Given the description of an element on the screen output the (x, y) to click on. 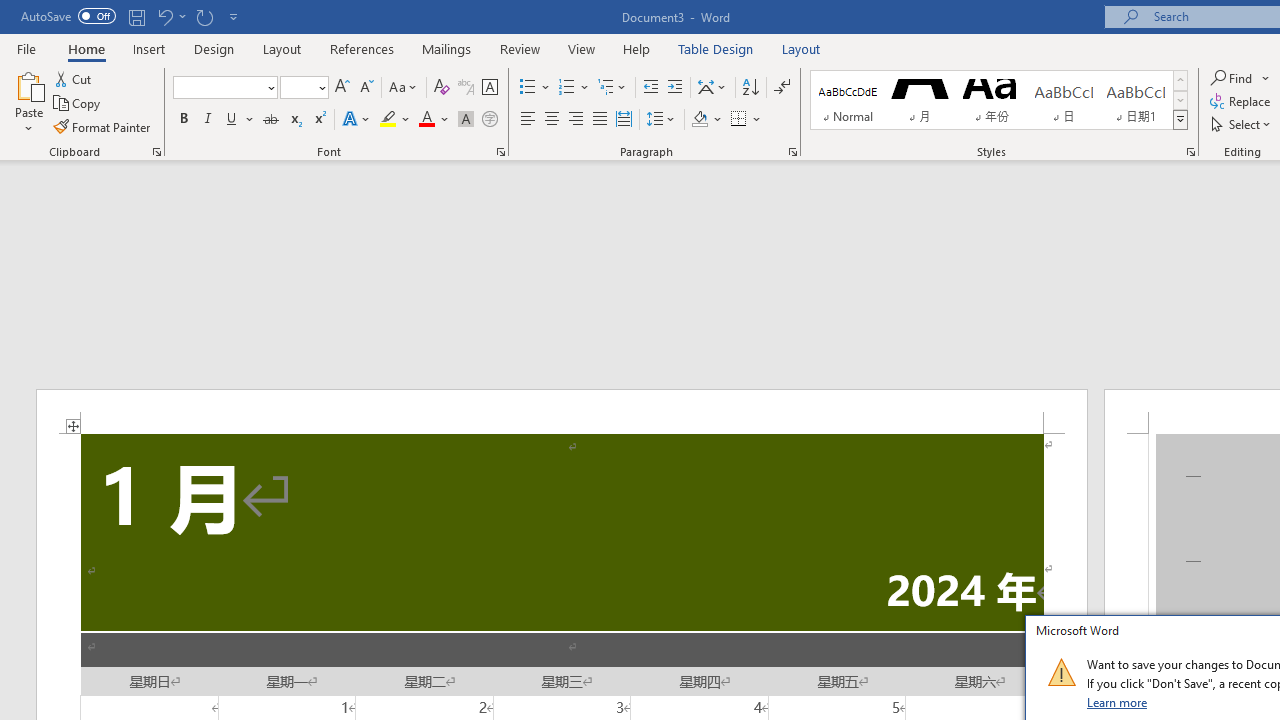
Center (552, 119)
Help (637, 48)
Review (520, 48)
Learn more (1118, 702)
Grow Font (342, 87)
Font Size (297, 87)
Paste (28, 84)
More Options (1266, 78)
Font Size (304, 87)
Borders (746, 119)
Numbering (566, 87)
Enclose Characters... (489, 119)
Font (224, 87)
Office Clipboard... (156, 151)
Header -Section 1- (561, 411)
